Given the description of an element on the screen output the (x, y) to click on. 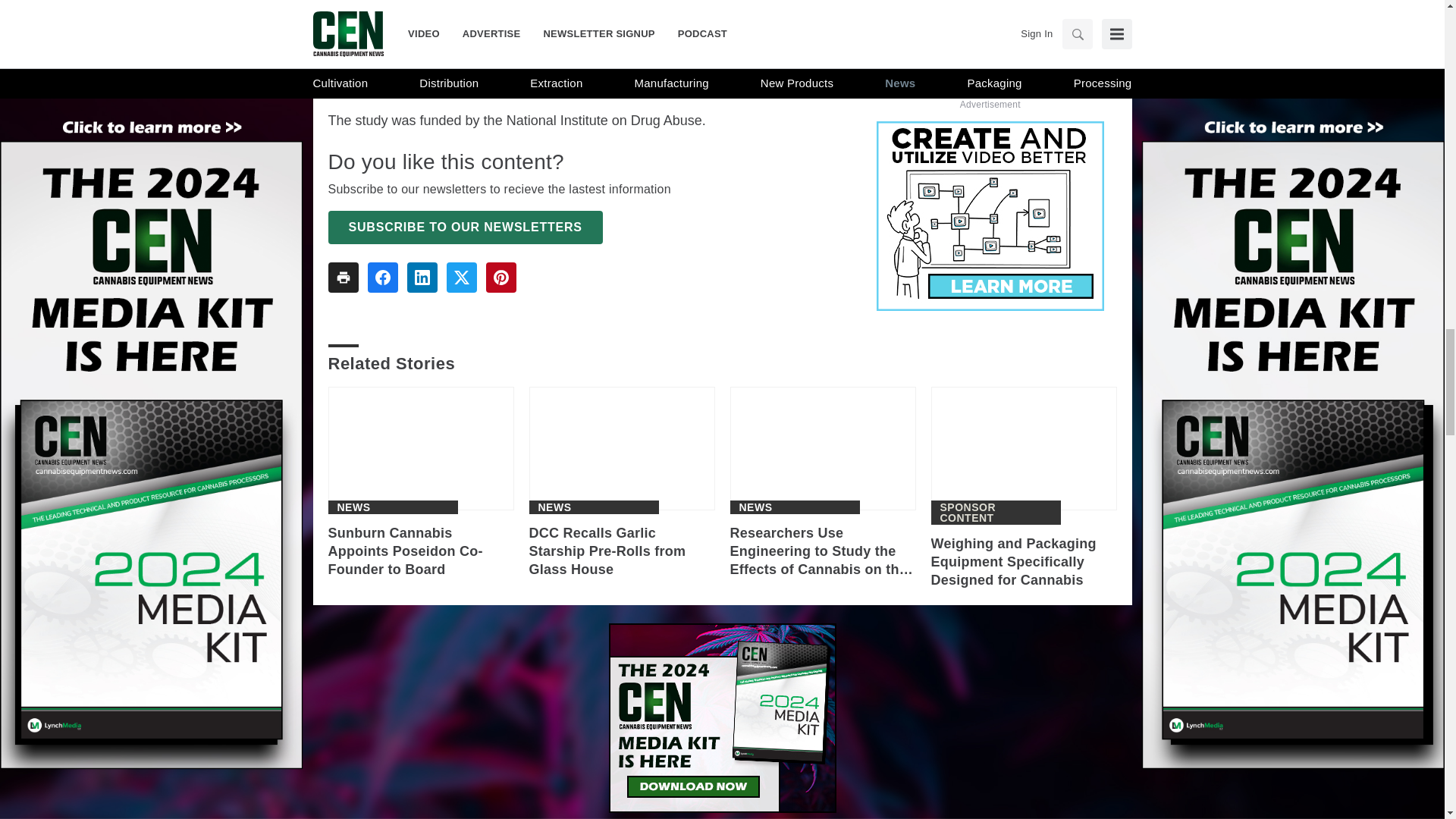
Share To linkedin (421, 277)
Share To print (342, 277)
Share To twitter (460, 277)
Share To facebook (381, 277)
Share To pinterest (499, 277)
